Given the description of an element on the screen output the (x, y) to click on. 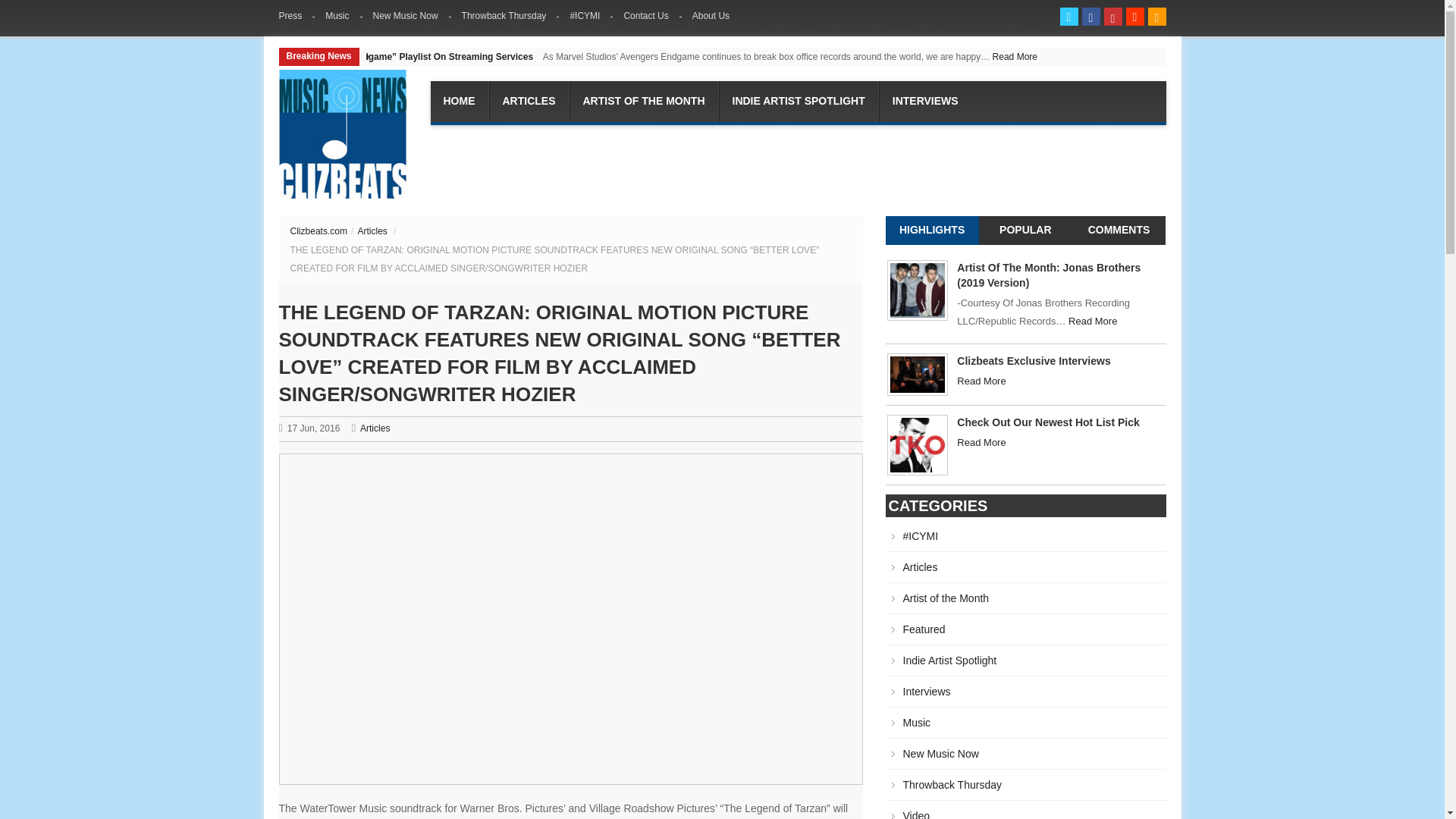
Contact Us (646, 15)
RSS (1157, 16)
Articles (371, 231)
Clizbeats.com (343, 134)
Check Out Our Newest Hot List Pick (916, 443)
INTERVIEWS (925, 101)
ARTICLES (528, 101)
Clizbeats Exclusive Interviews (916, 374)
Facebook (1090, 16)
Read More (345, 56)
SoundCloud (1133, 16)
Press (297, 15)
Music (337, 15)
YouTube (1112, 16)
Clizbeats.com (318, 231)
